Given the description of an element on the screen output the (x, y) to click on. 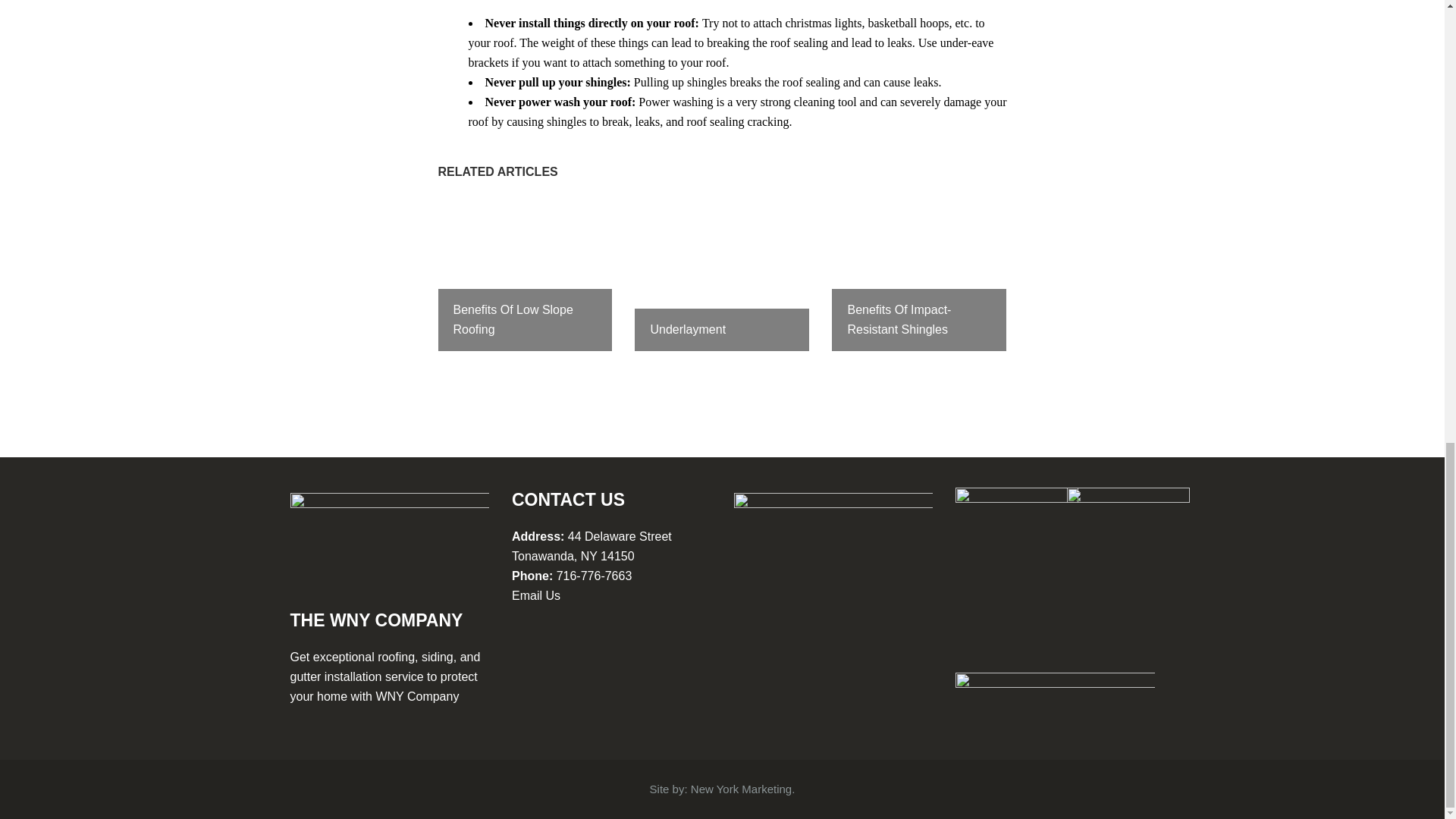
Underlayment (721, 274)
New York Marketing (741, 788)
New York Marketing (741, 788)
Benefits Of Low Slope Roofing (525, 274)
Underlayment (721, 274)
Email Us (536, 594)
Benefits Of Low Slope Roofing (525, 274)
Benefits Of Impact-Resistant Shingles (918, 274)
Benefits Of Impact-Resistant Shingles (918, 274)
716-776-7663 (593, 575)
